Given the description of an element on the screen output the (x, y) to click on. 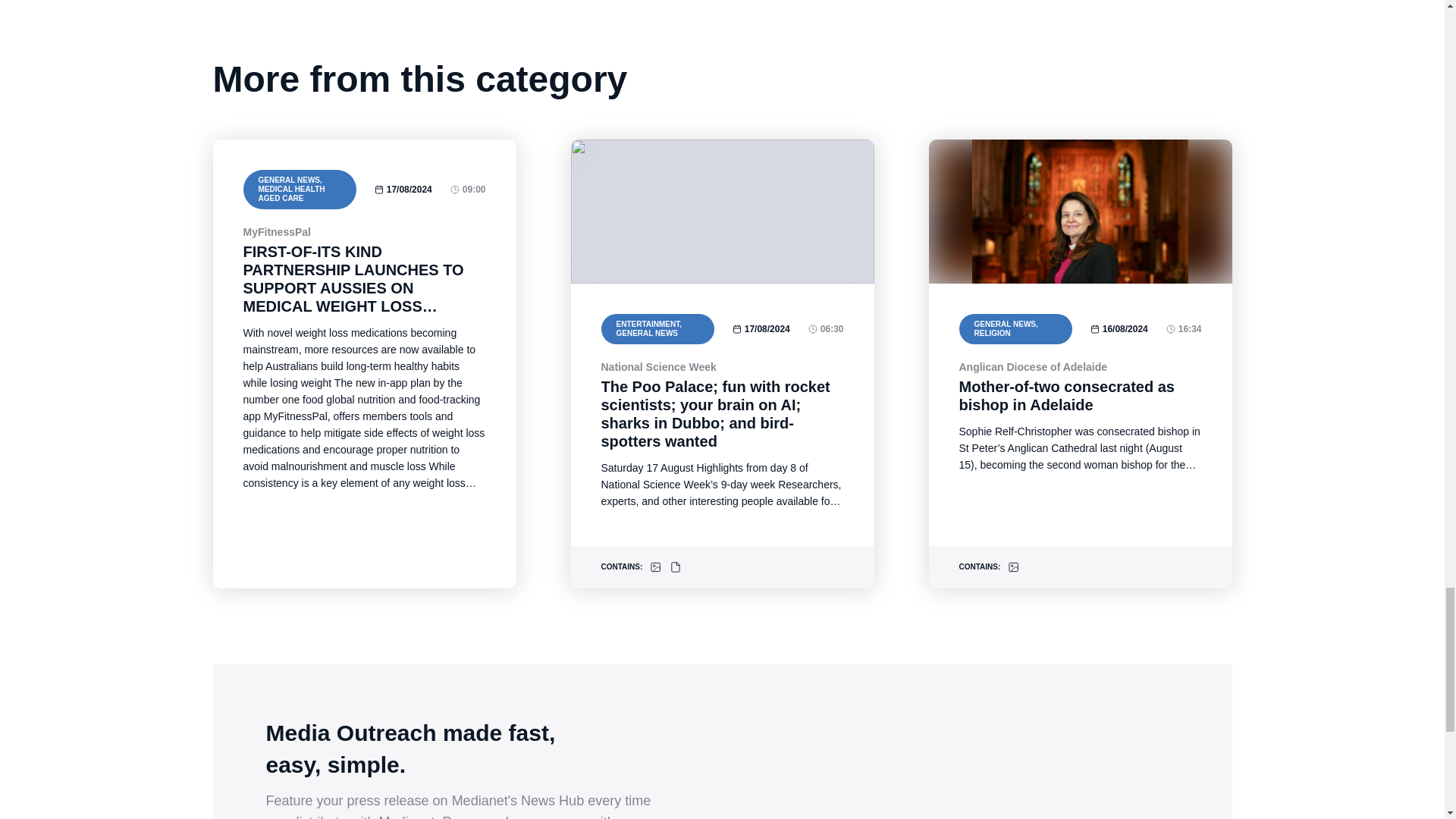
Images (655, 567)
Images (1013, 567)
Attachments (675, 567)
